Given the description of an element on the screen output the (x, y) to click on. 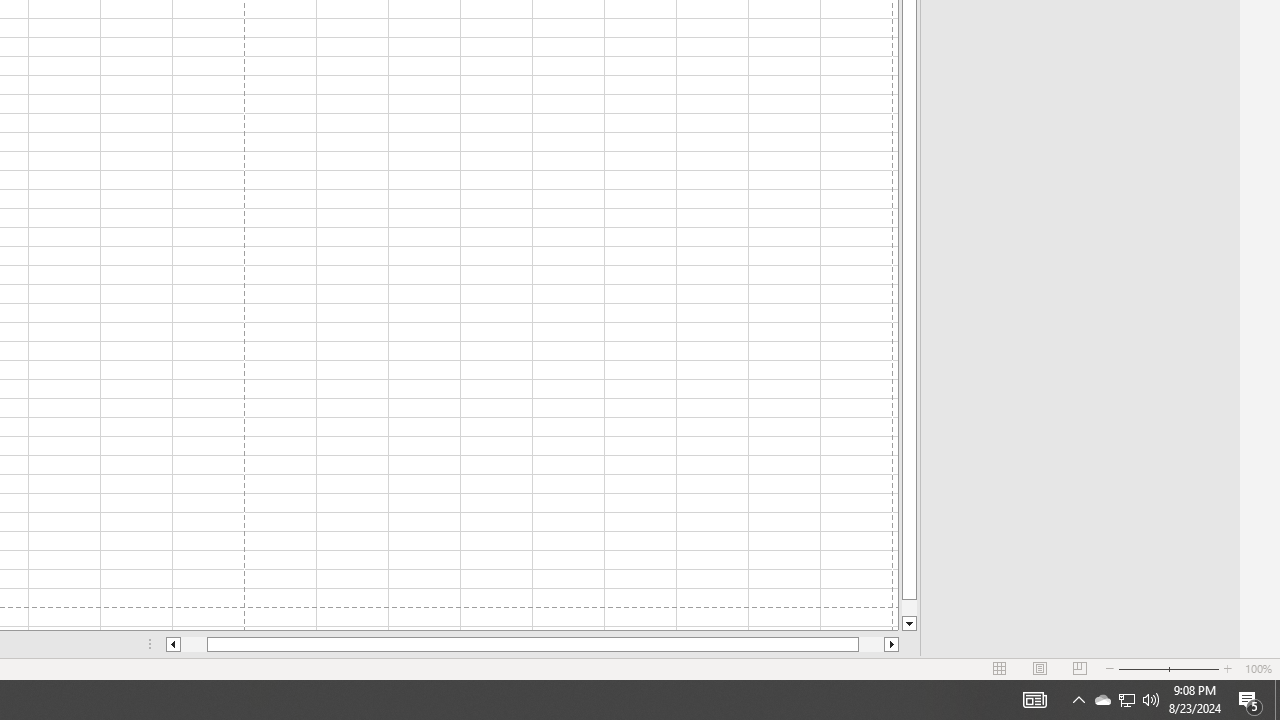
Column right (892, 644)
Zoom In (1227, 668)
Page left (193, 644)
Page right (871, 644)
Page Layout (1039, 668)
Column left (171, 644)
Zoom (1168, 668)
Normal (1000, 668)
Page down (909, 607)
Class: NetUIScrollBar (532, 644)
Line down (909, 624)
Page Break Preview (1079, 668)
Zoom Out (1142, 668)
